Given the description of an element on the screen output the (x, y) to click on. 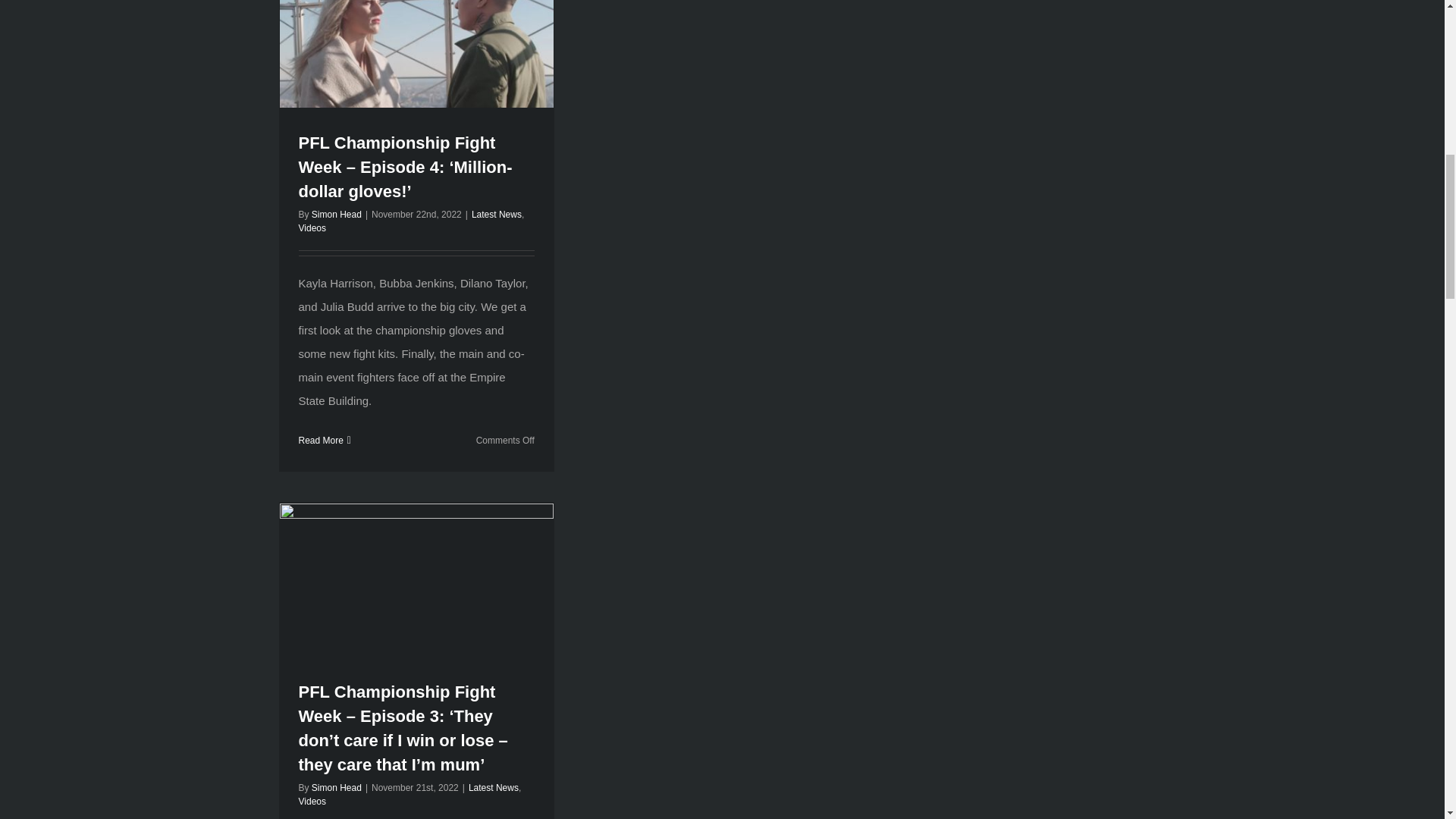
Videos (312, 227)
Latest News (493, 787)
Posts by Simon Head (336, 787)
Latest News (496, 214)
Read More (320, 439)
Videos (312, 801)
Posts by Simon Head (336, 214)
Simon Head (336, 214)
Simon Head (336, 787)
